Given the description of an element on the screen output the (x, y) to click on. 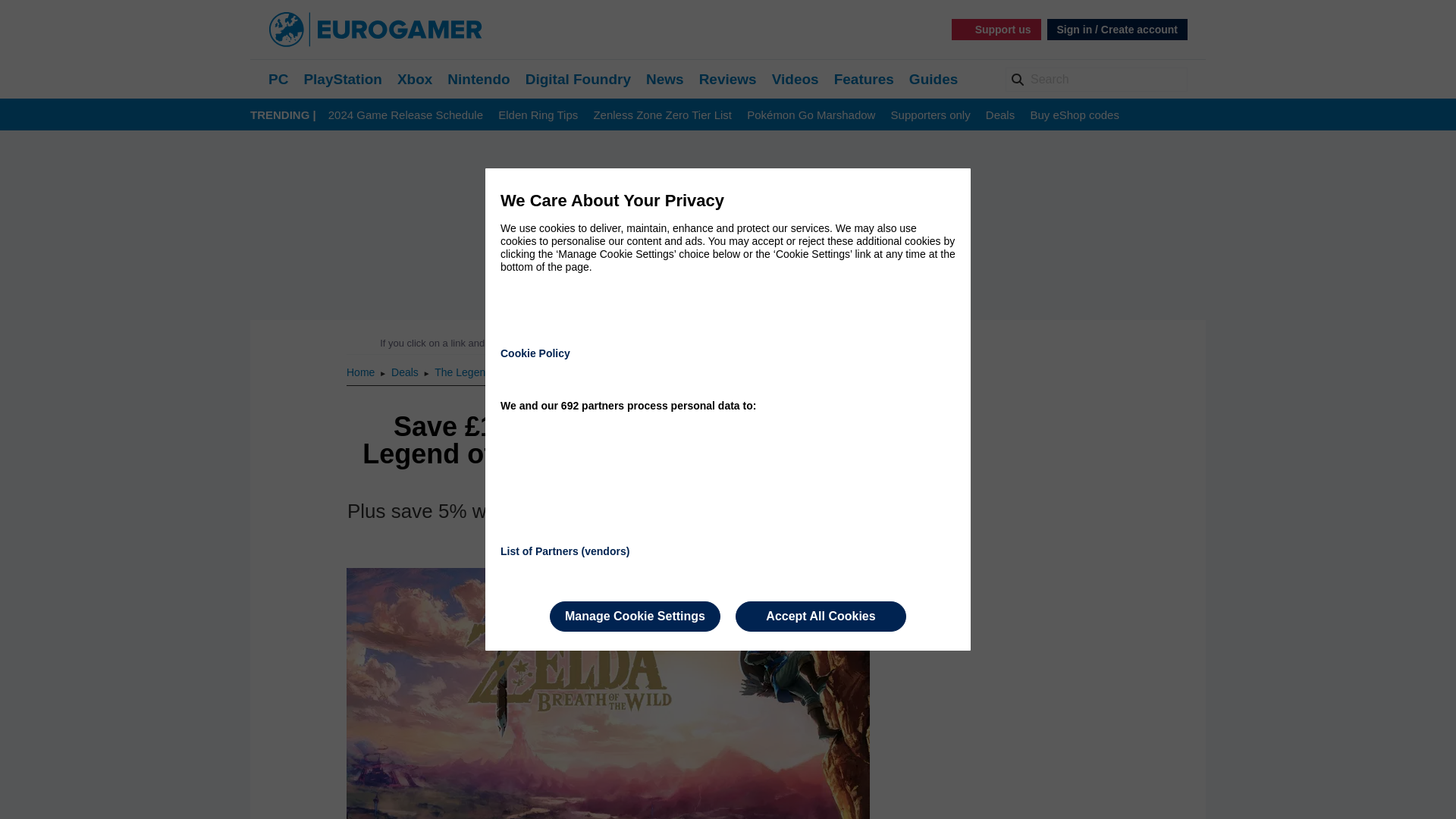
Home (361, 372)
Zenless Zone Zero Tier List (662, 114)
Home (361, 372)
Reviews (727, 78)
Videos (794, 78)
Xbox (414, 78)
Videos (794, 78)
Reviews (727, 78)
Deals (999, 114)
PlayStation (341, 78)
Read our editorial policy (781, 342)
Nintendo (477, 78)
Guides (933, 78)
News (665, 78)
Support us (996, 29)
